Given the description of an element on the screen output the (x, y) to click on. 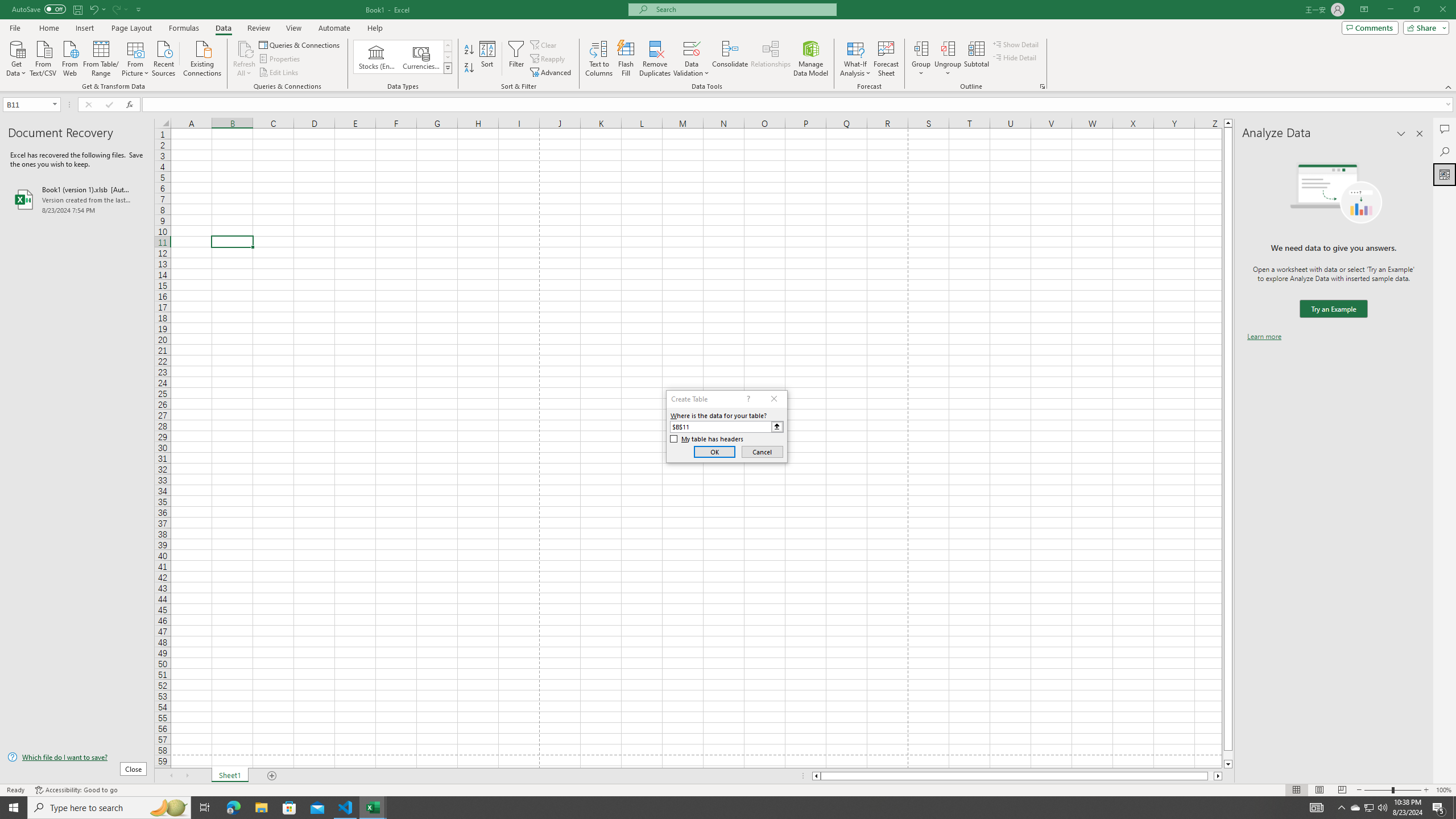
Refresh All (244, 48)
Data Validation... (691, 58)
Search (1444, 151)
Group... (921, 58)
Book1 (version 1).xlsb  [AutoRecovered] (77, 199)
AutomationID: ConvertToLinkedEntity (403, 56)
Queries & Connections (300, 44)
Stocks (English) (375, 56)
